Given the description of an element on the screen output the (x, y) to click on. 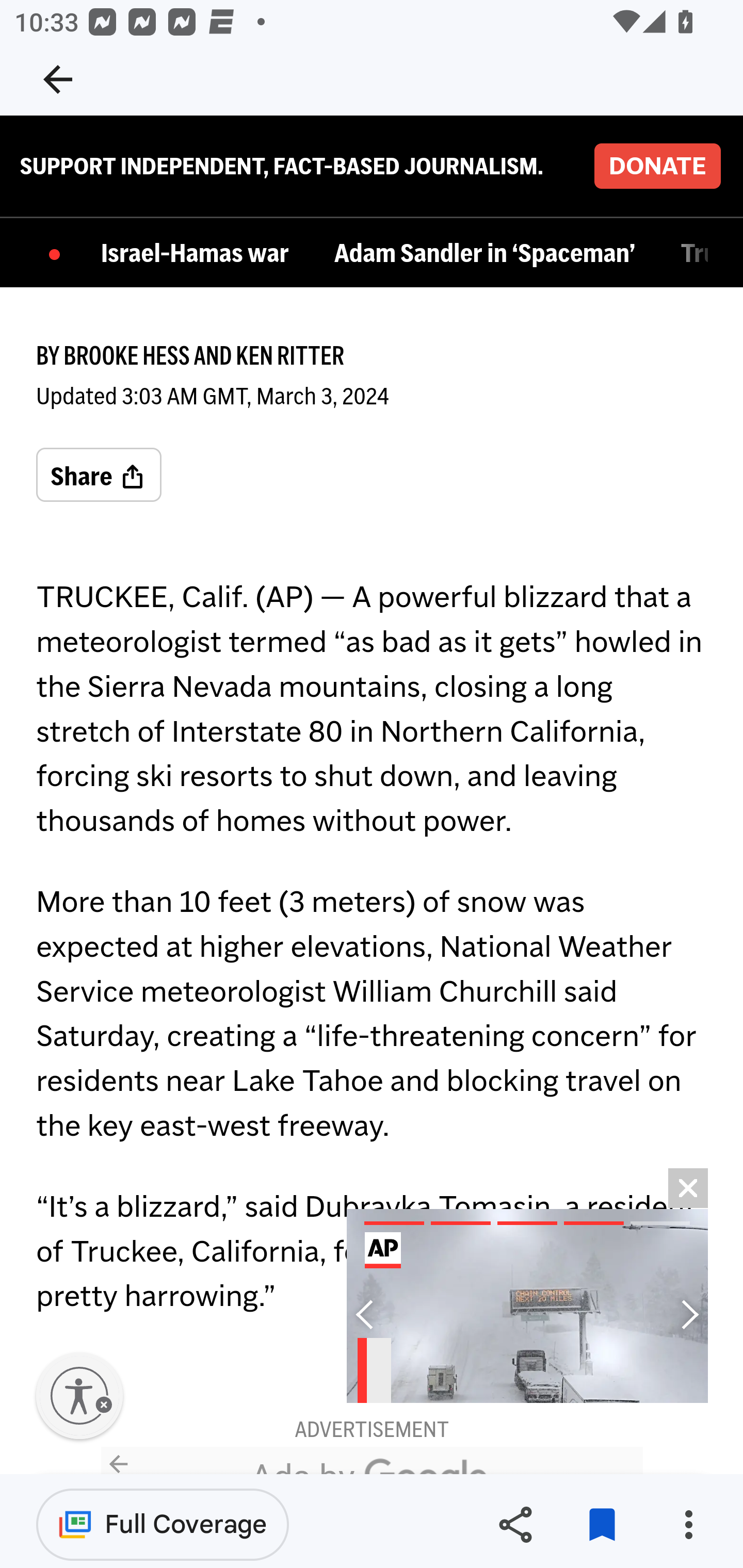
Navigate up (57, 79)
DONATE (657, 167)
Israel-Hamas war (200, 254)
Adam Sandler in ‘Spaceman’ (489, 254)
Share (99, 476)
Enable accessibility (79, 1396)
Share (514, 1524)
Remove from saved stories (601, 1524)
More options (688, 1524)
Full Coverage (162, 1524)
